Given the description of an element on the screen output the (x, y) to click on. 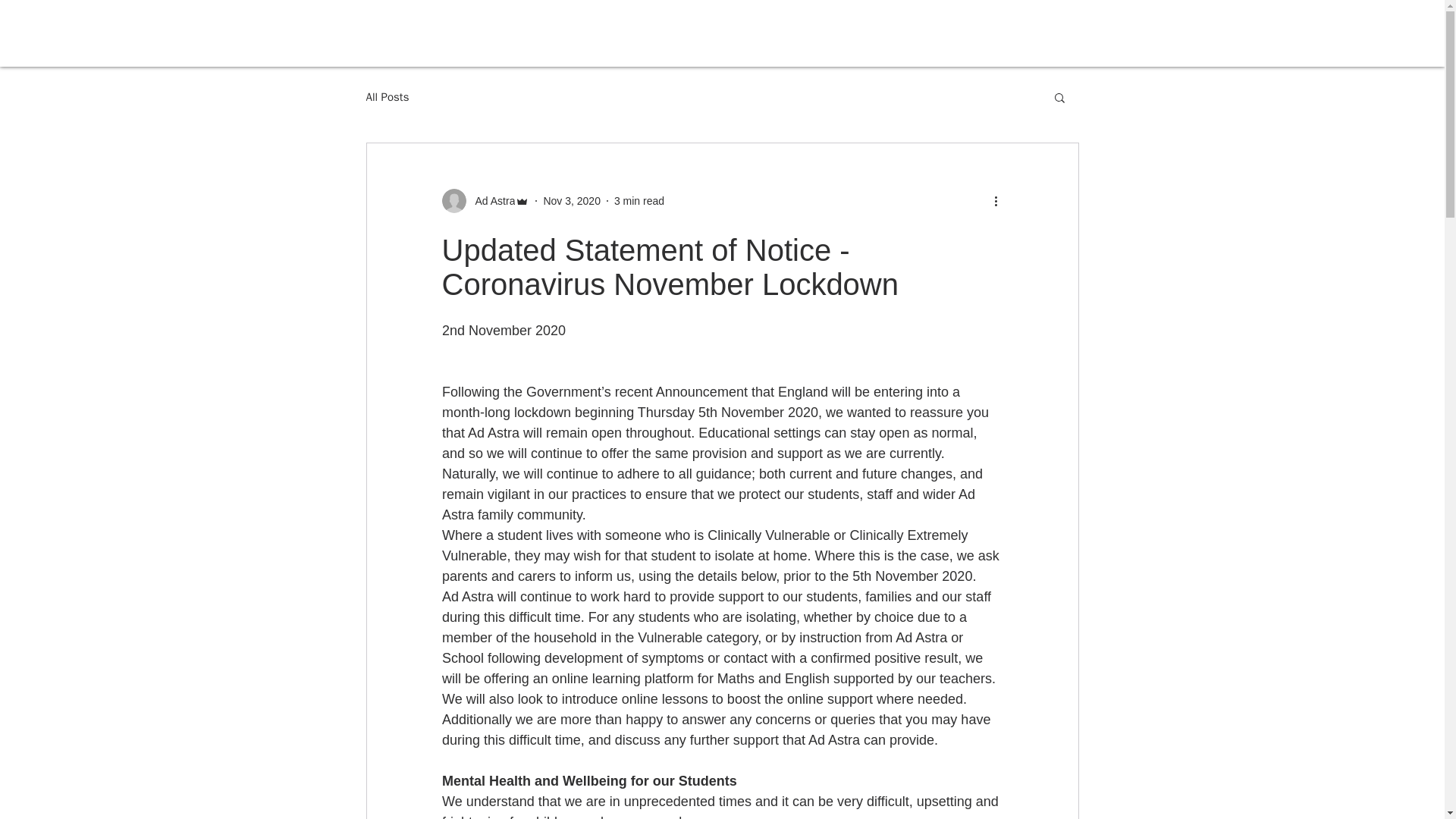
All Posts (387, 96)
3 min read (638, 200)
Nov 3, 2020 (571, 200)
Ad Astra (490, 200)
Ad Astra (485, 200)
